Given the description of an element on the screen output the (x, y) to click on. 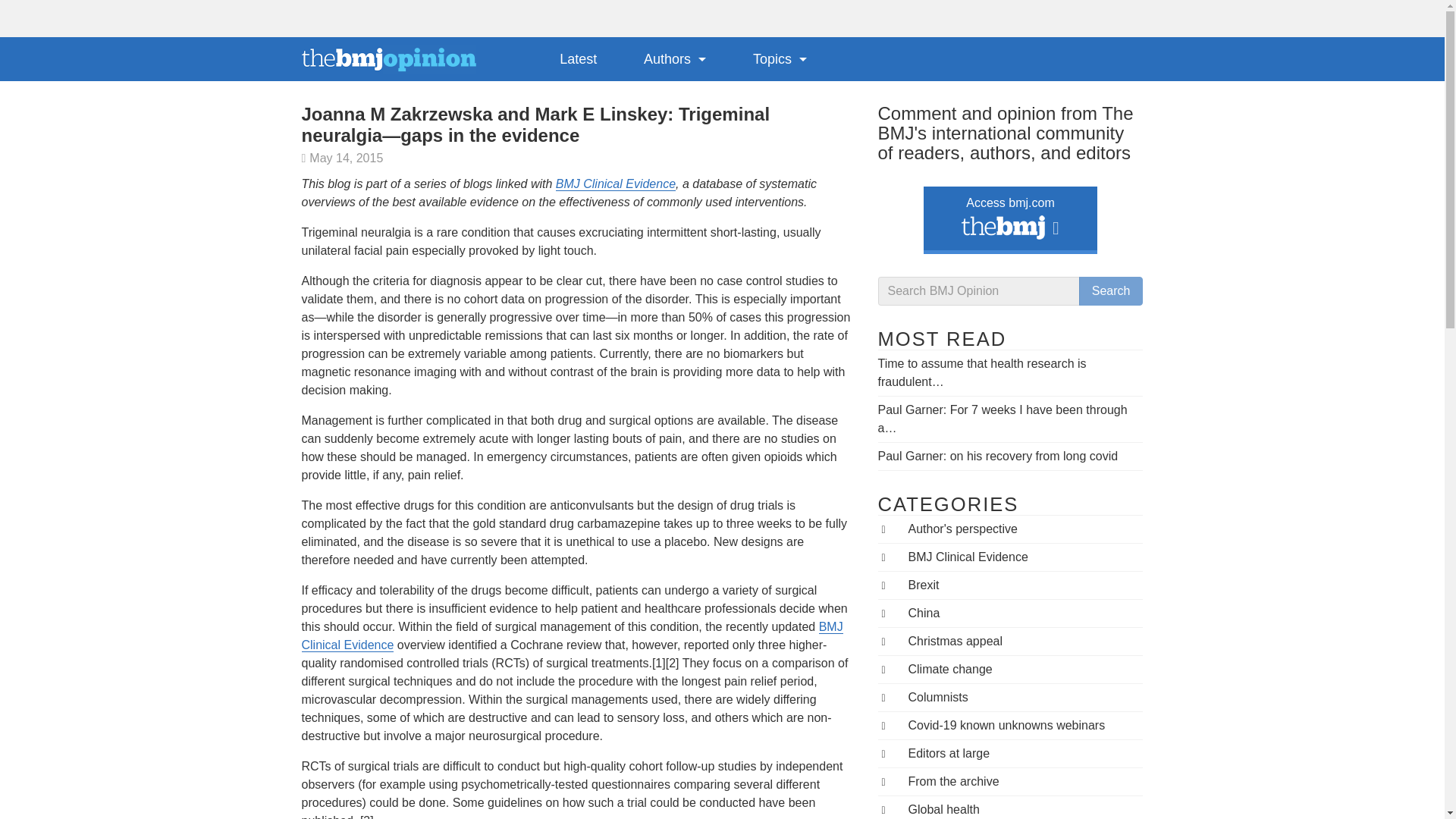
The BMJ (1002, 231)
Access bmj.com (1009, 216)
BMJ Clinical Evidence (967, 556)
Search (1110, 290)
Paul Garner: on his recovery from long covid (997, 455)
Latest (577, 58)
BMJ Clinical Evidence (572, 635)
Climate change (950, 668)
Authors (674, 58)
Search (1110, 290)
